Given the description of an element on the screen output the (x, y) to click on. 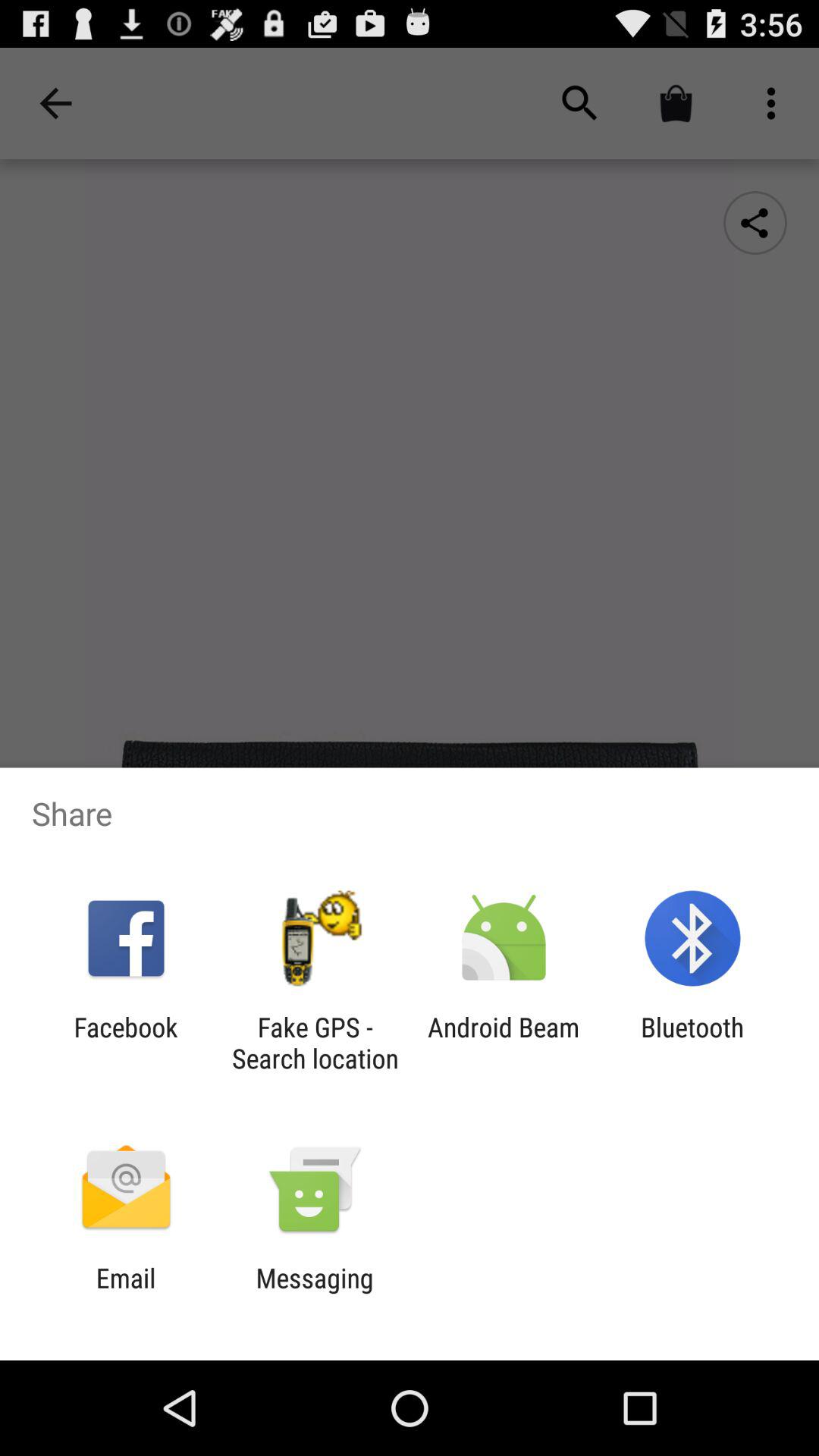
tap icon next to the android beam (314, 1042)
